Given the description of an element on the screen output the (x, y) to click on. 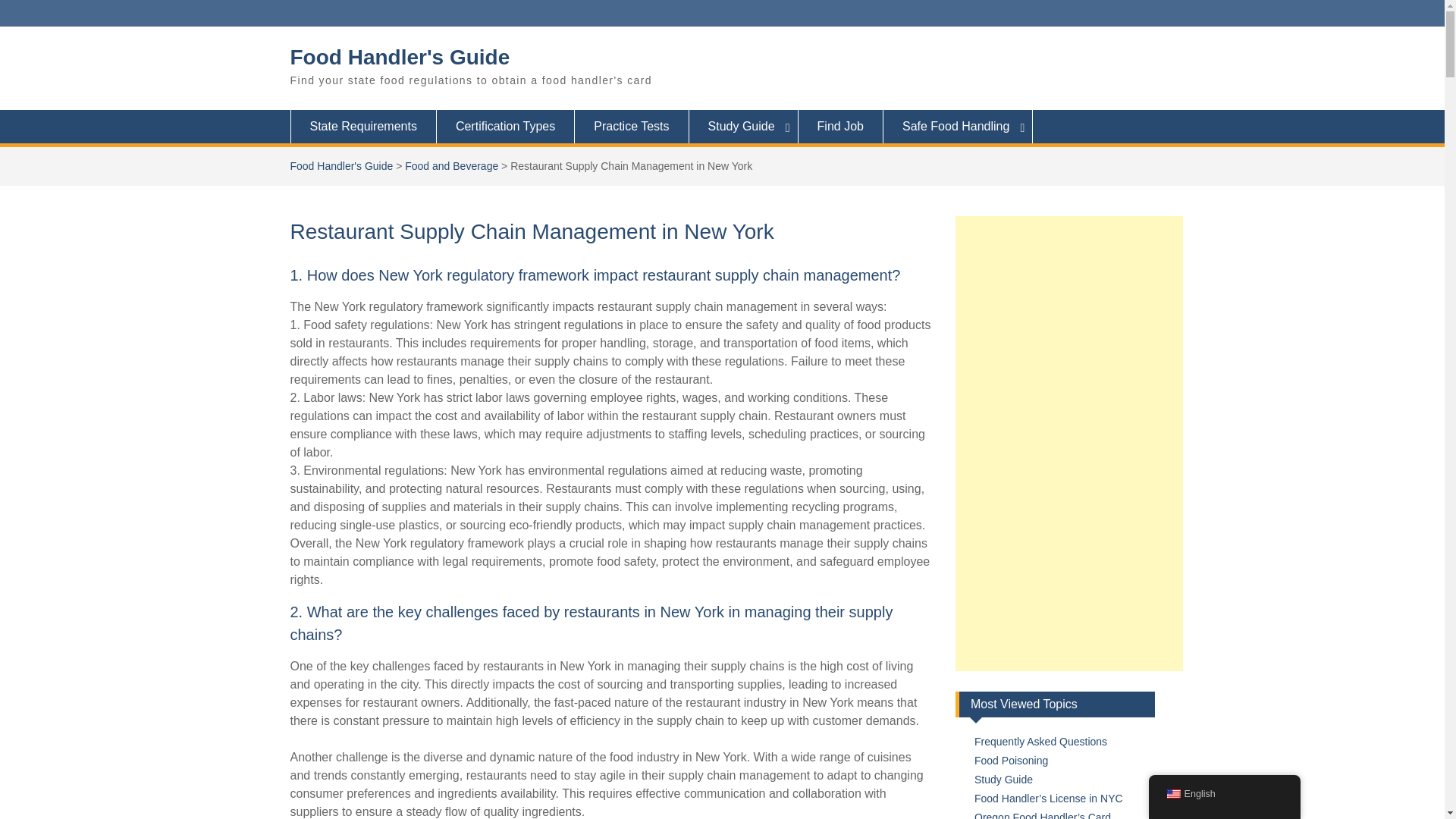
Certification Types (505, 126)
Study Guide (1003, 779)
Practice Tests (631, 126)
Food and Beverage (450, 165)
State Requirements (362, 126)
Food Poisoning (1011, 760)
English (1172, 793)
Find Job (840, 126)
Food Handler's Guide (341, 165)
Food Handler's Guide (399, 56)
Frequently Asked Questions (1040, 741)
Safe Food Handling (957, 126)
Study Guide (742, 126)
